Given the description of an element on the screen output the (x, y) to click on. 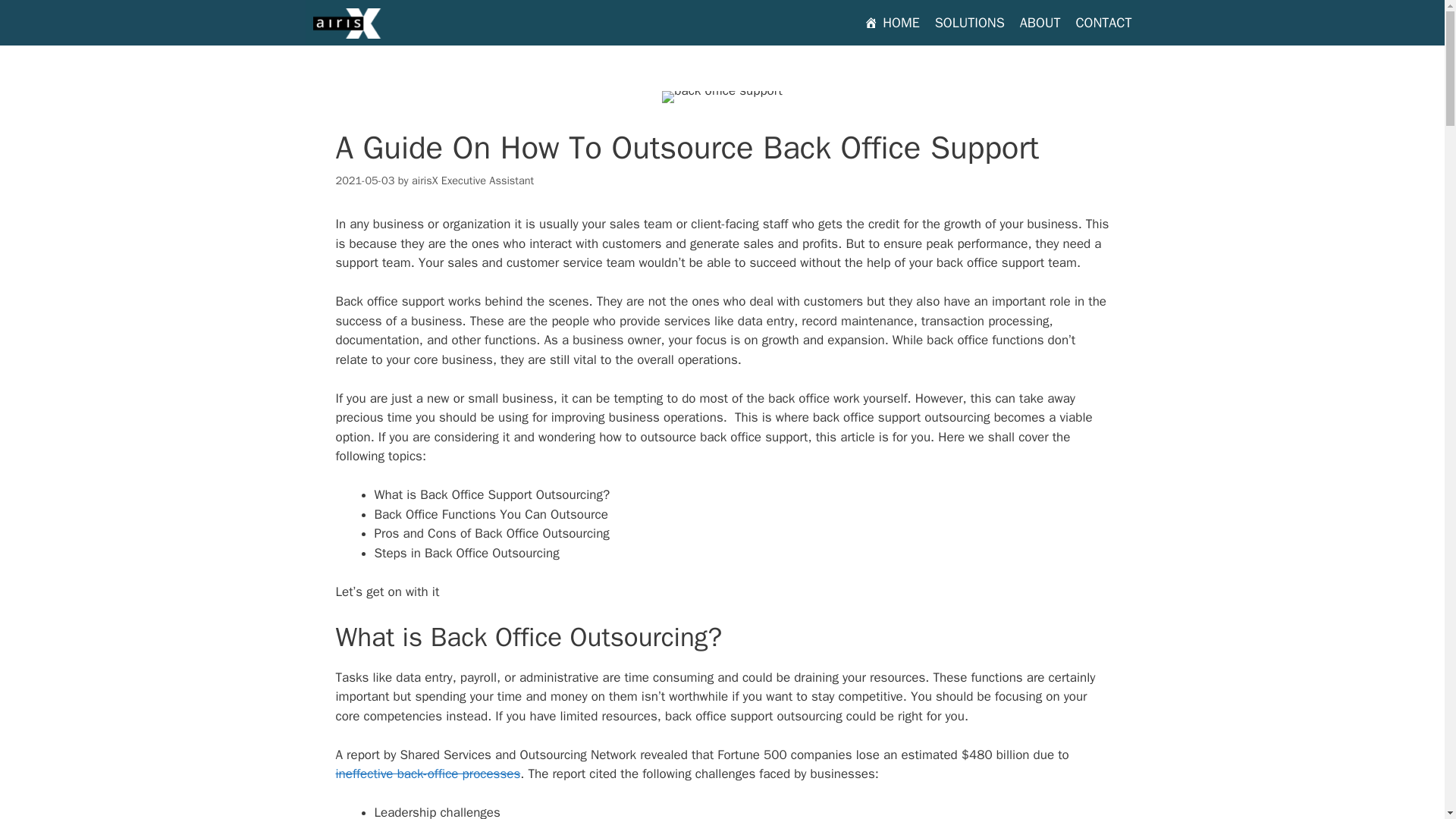
View all posts by airisX Executive Assistant (473, 180)
ineffective back-office processes (426, 773)
SOLUTIONS (969, 22)
HOME (892, 22)
airisX Executive Assistant (473, 180)
CONTACT (1102, 22)
ABOUT (1039, 22)
